Given the description of an element on the screen output the (x, y) to click on. 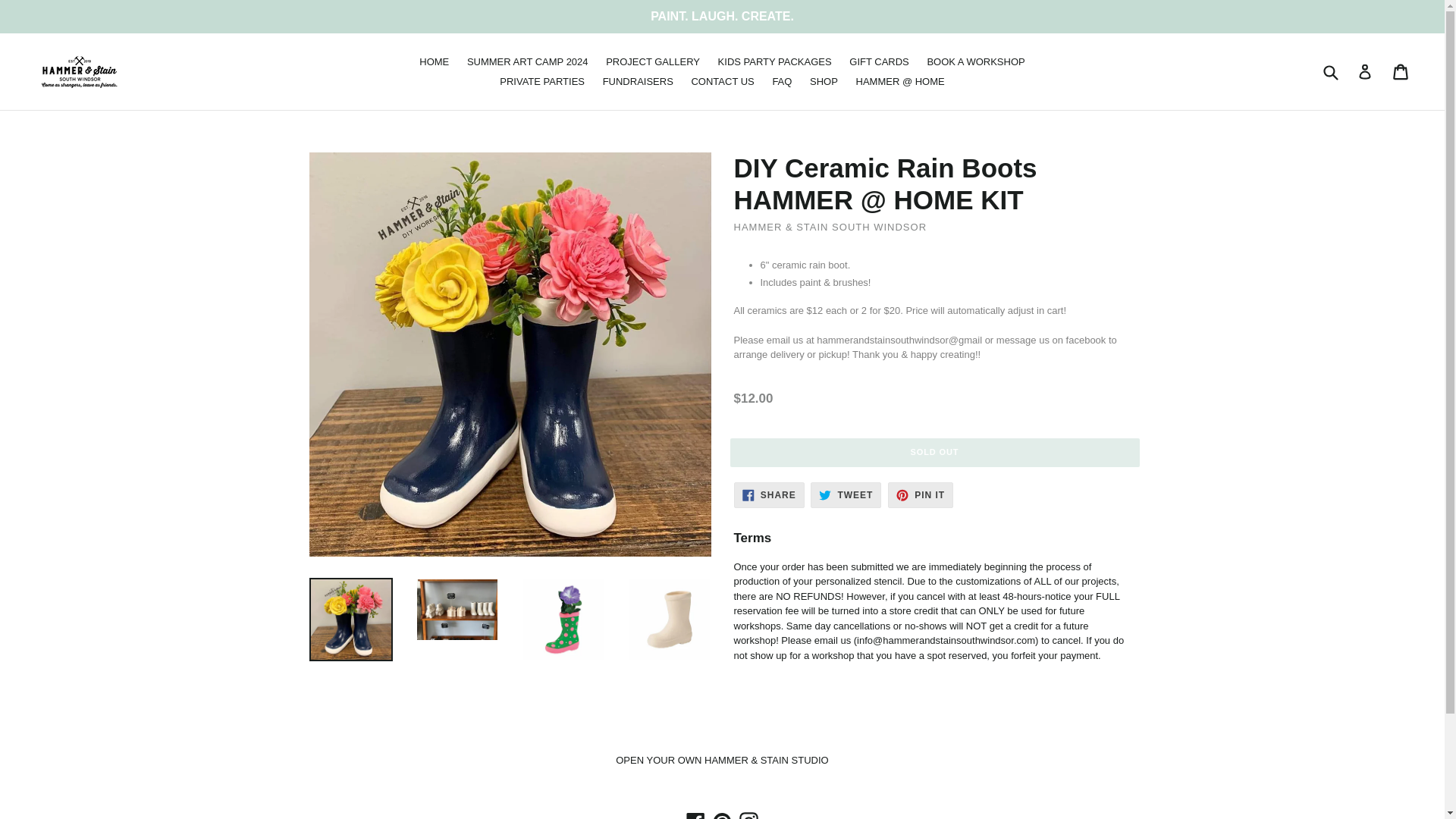
BOOK A WORKSHOP (975, 62)
PROJECT GALLERY (652, 62)
KIDS PARTY PACKAGES (775, 62)
PRIVATE PARTIES (542, 80)
Share on Facebook (769, 494)
SUMMER ART CAMP 2024 (527, 62)
Tweet on Twitter (845, 494)
FUNDRAISERS (638, 80)
CONTACT US (721, 80)
HOME (434, 62)
Pin on Pinterest (920, 494)
FAQ (781, 80)
SOLD OUT (933, 452)
SHOP (823, 80)
GIFT CARDS (879, 62)
